Given the description of an element on the screen output the (x, y) to click on. 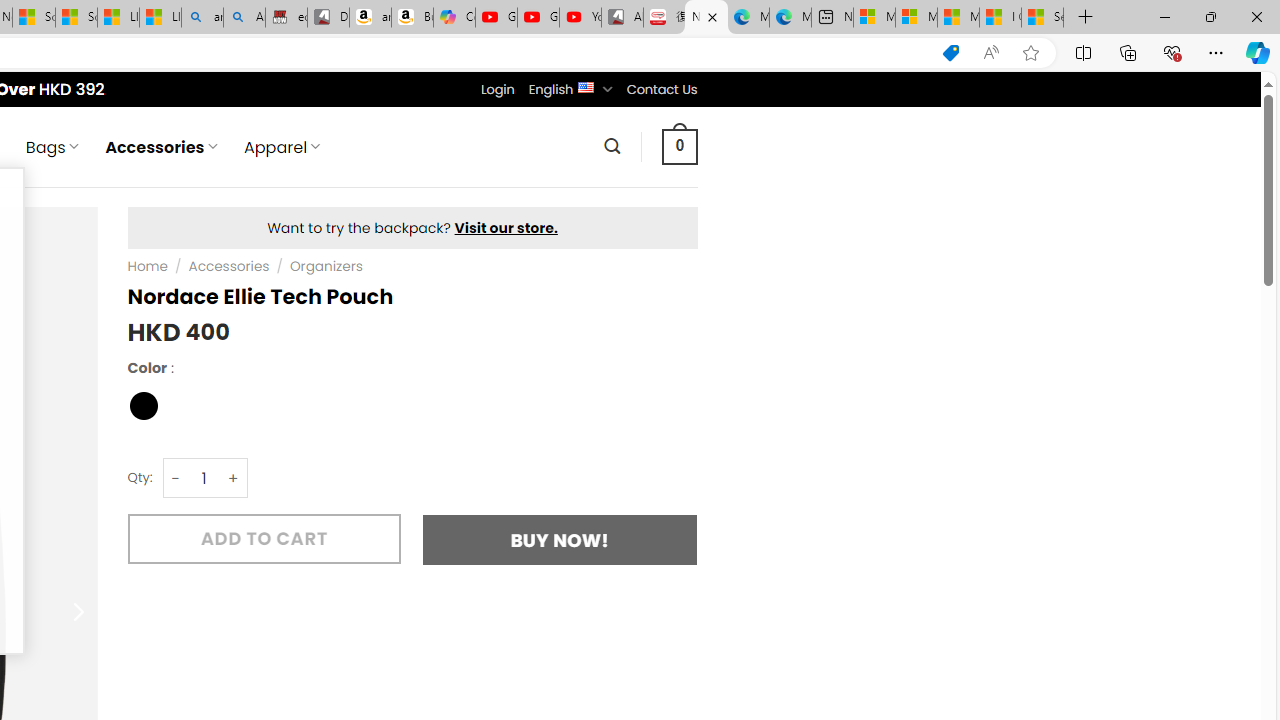
BUY NOW! (559, 539)
This site has coupons! Shopping in Microsoft Edge (950, 53)
Nordace Ellie Tech Pouch quantity (204, 477)
 0  (679, 146)
Read aloud this page (Ctrl+Shift+U) (991, 53)
Minimize (1164, 16)
+ (234, 477)
Accessories (229, 267)
Close (1256, 16)
ADD TO CART (263, 537)
Microsoft Start (958, 17)
Home (147, 267)
